Given the description of an element on the screen output the (x, y) to click on. 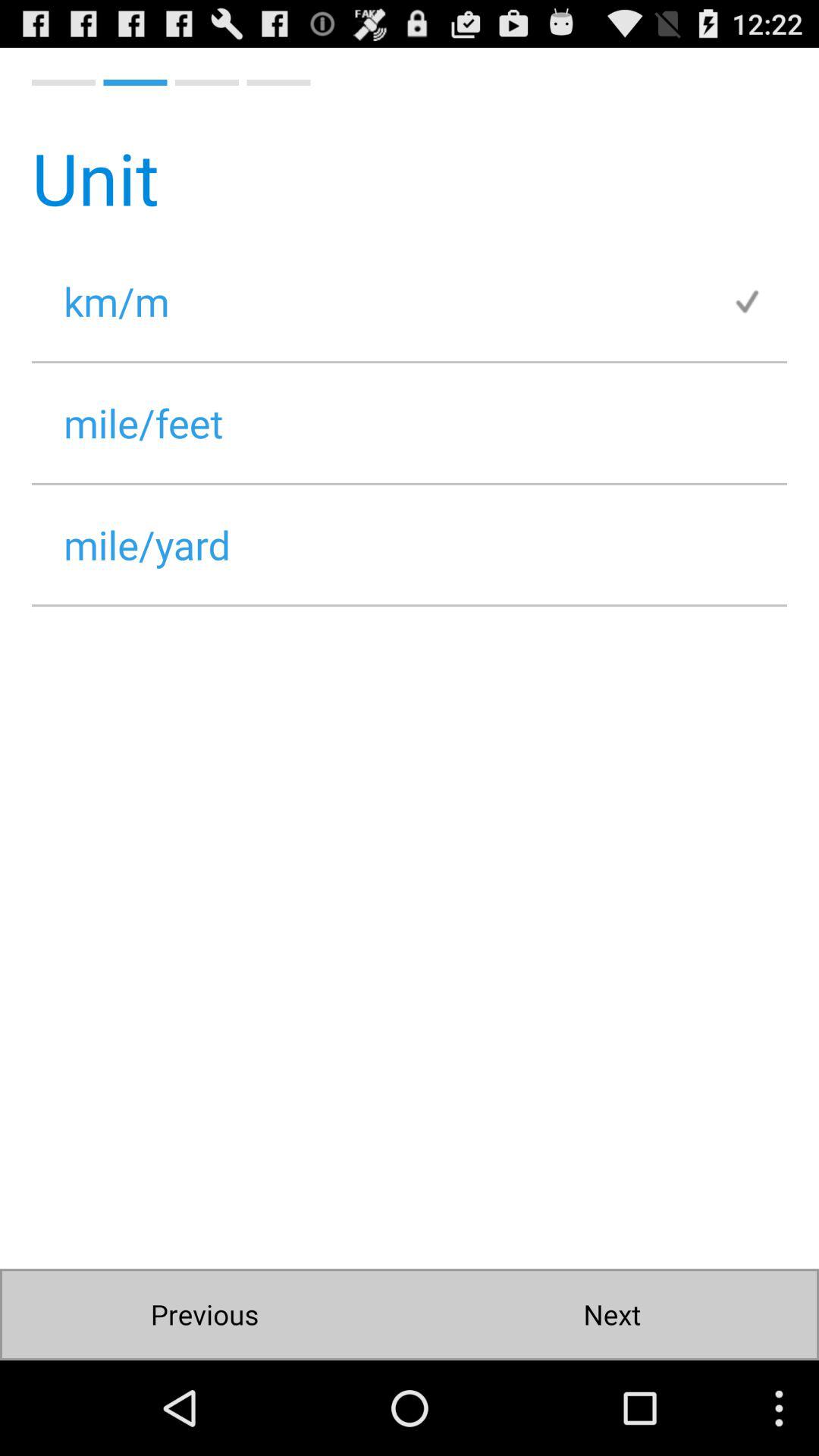
choose item below the unit icon (759, 300)
